Given the description of an element on the screen output the (x, y) to click on. 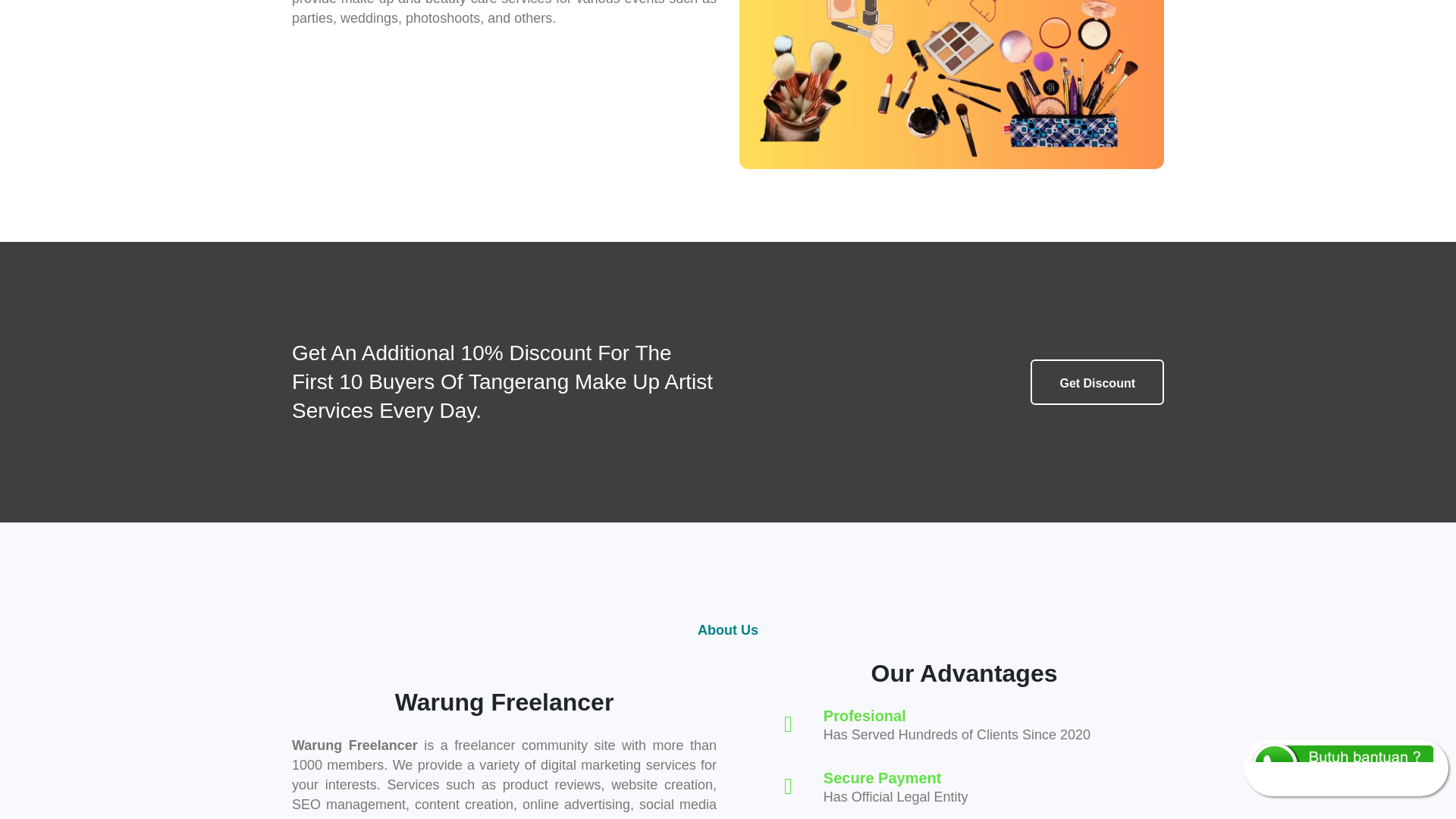
Get Discount (1096, 381)
Tangerang Make Up Artist Services (951, 84)
